Given the description of an element on the screen output the (x, y) to click on. 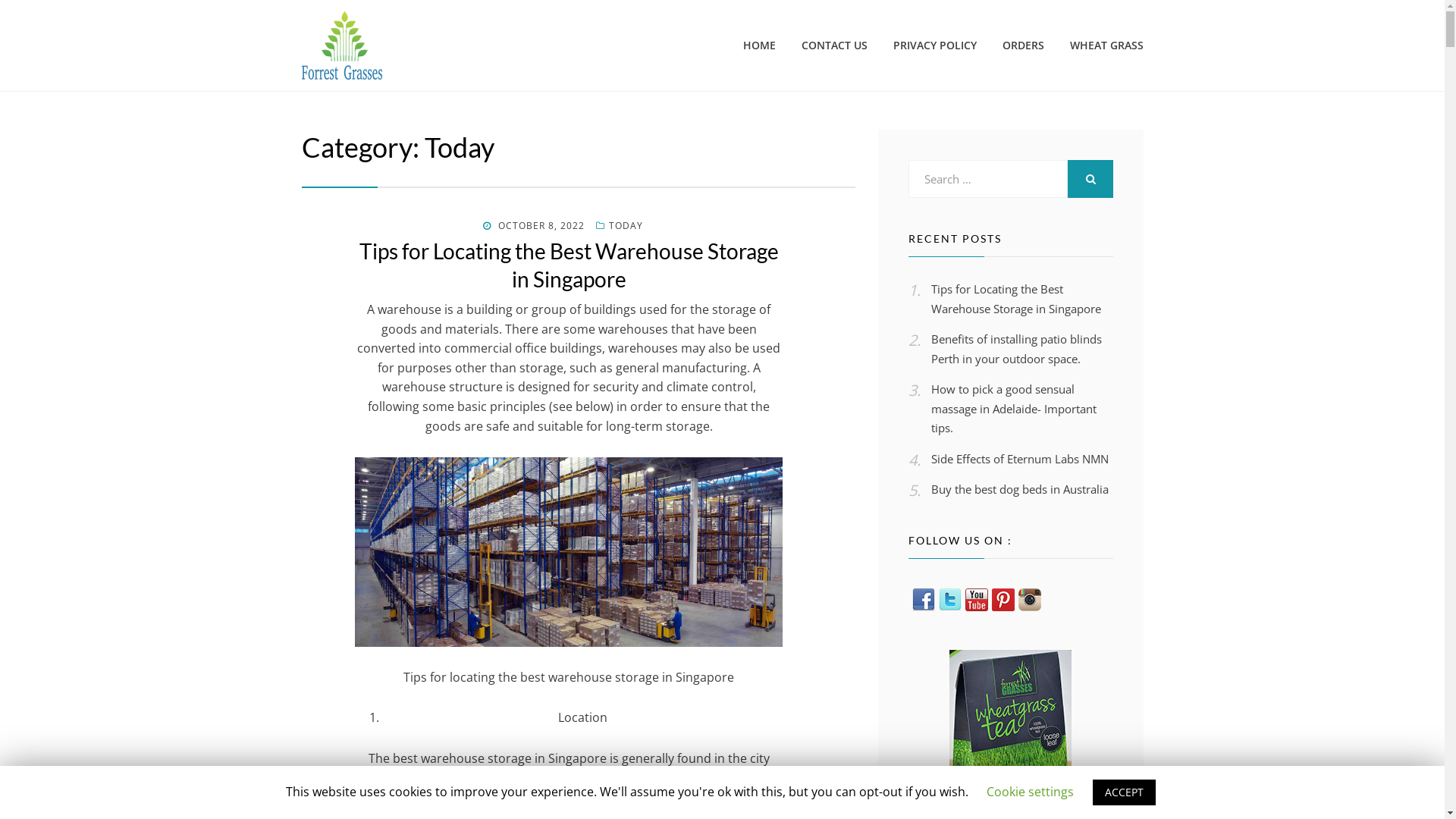
TODAY Element type: text (619, 225)
Side Effects of Eternum Labs NMN Element type: text (1019, 458)
Cookie settings Element type: text (1029, 791)
CONTACT US Element type: text (834, 45)
Buy the best dog beds in Australia Element type: text (1019, 488)
WHEAT GRASS Element type: text (1100, 45)
Forrest Grasses Element type: text (395, 96)
ACCEPT Element type: text (1123, 792)
SEARCH Element type: text (1090, 178)
Tips for Locating the Best Warehouse Storage in Singapore Element type: text (568, 264)
Tips for Locating the Best Warehouse Storage in Singapore Element type: text (1016, 298)
HOME Element type: text (758, 45)
PRIVACY POLICY Element type: text (933, 45)
OCTOBER 8, 2022 Element type: text (533, 225)
ORDERS Element type: text (1022, 45)
Search for: Element type: hover (987, 178)
